Given the description of an element on the screen output the (x, y) to click on. 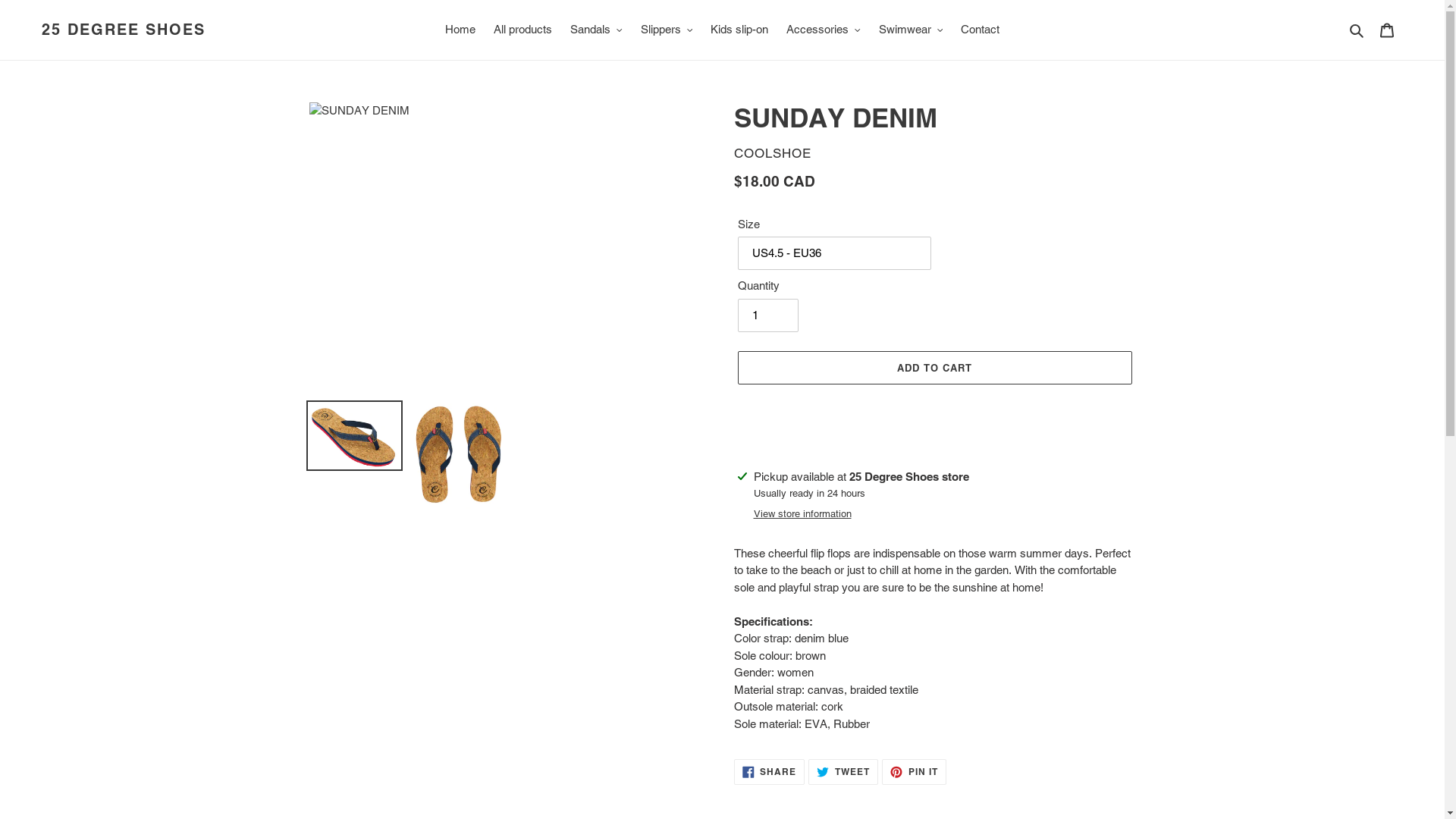
25 DEGREE SHOES Element type: text (123, 29)
PIN IT
PIN ON PINTEREST Element type: text (913, 771)
Kids slip-on Element type: text (738, 29)
Contact Element type: text (980, 29)
Accessories Element type: text (823, 29)
Search Element type: text (1357, 29)
View store information Element type: text (802, 513)
ADD TO CART Element type: text (934, 367)
Slippers Element type: text (665, 29)
Swimwear Element type: text (910, 29)
Cart Element type: text (1386, 29)
All products Element type: text (522, 29)
TWEET
TWEET ON TWITTER Element type: text (843, 771)
Home Element type: text (460, 29)
SHARE
SHARE ON FACEBOOK Element type: text (769, 771)
Sandals Element type: text (596, 29)
